Given the description of an element on the screen output the (x, y) to click on. 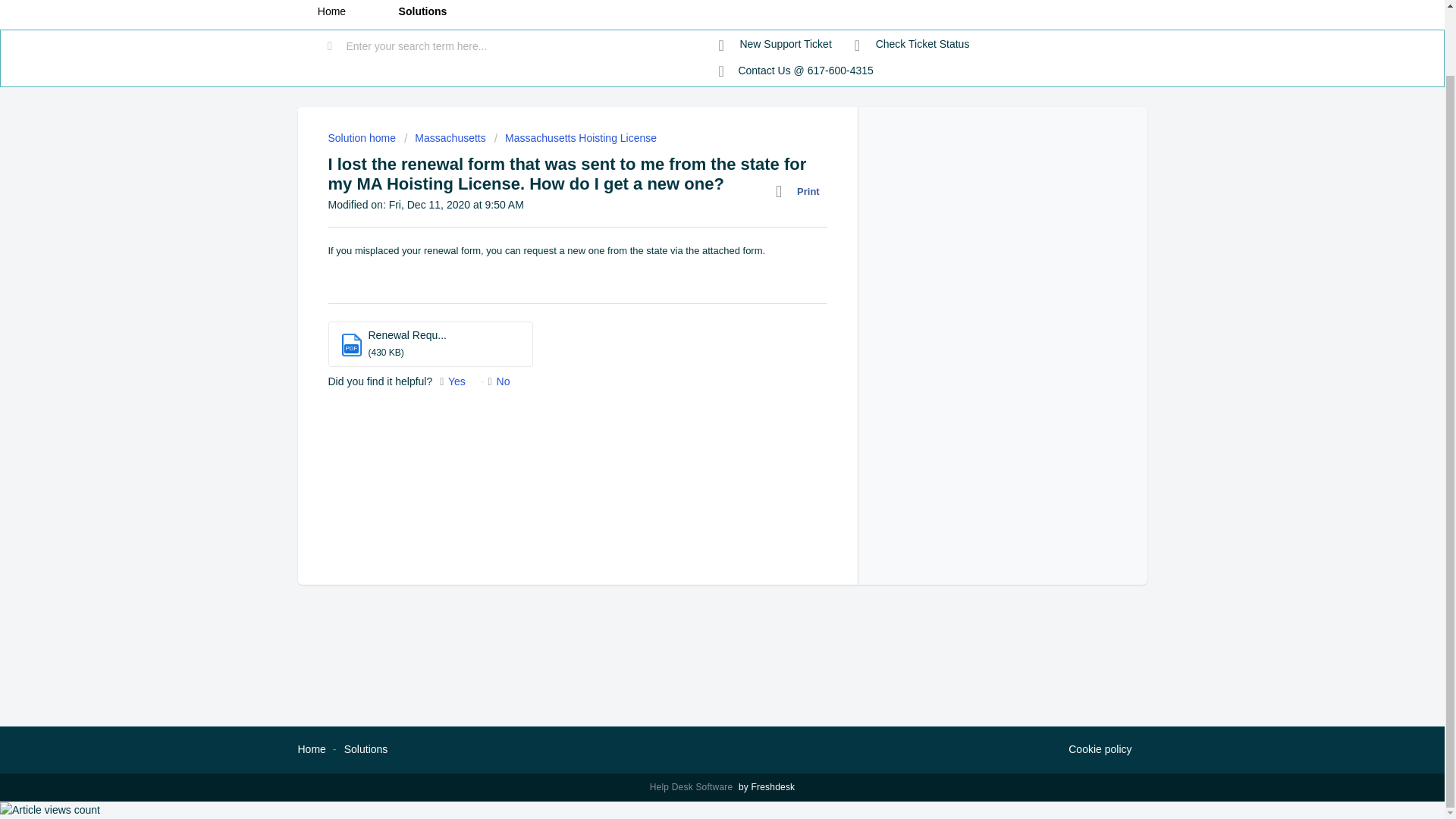
Solutions (365, 748)
New support ticket (775, 44)
Why we love Cookies (1099, 750)
Help Desk Software (693, 787)
New Support Ticket (775, 44)
Home (310, 748)
Check ticket status (911, 44)
Massachusetts (445, 137)
Print (801, 191)
Renewal Requ... (407, 335)
